Given the description of an element on the screen output the (x, y) to click on. 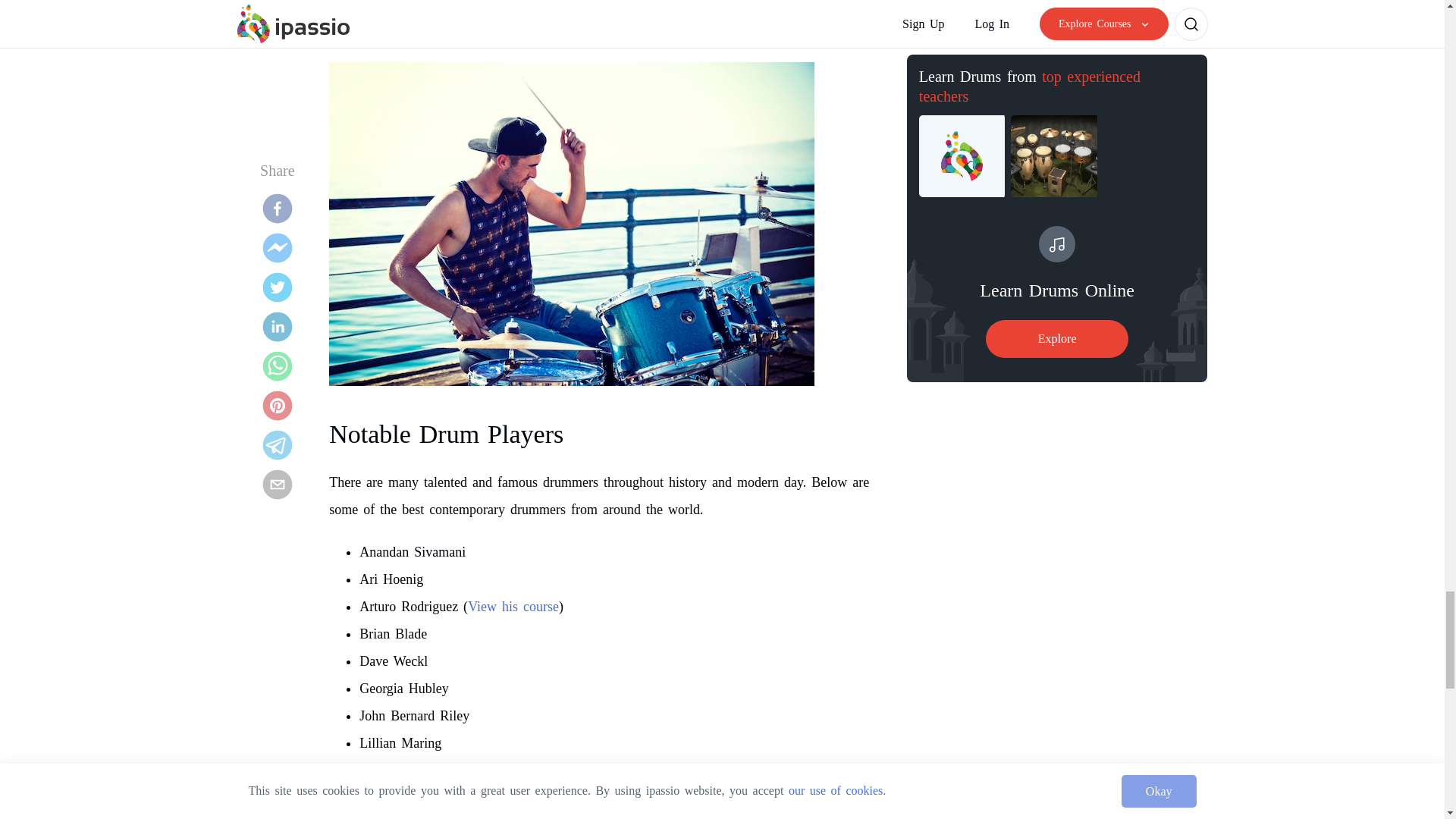
View his course (513, 606)
